Given the description of an element on the screen output the (x, y) to click on. 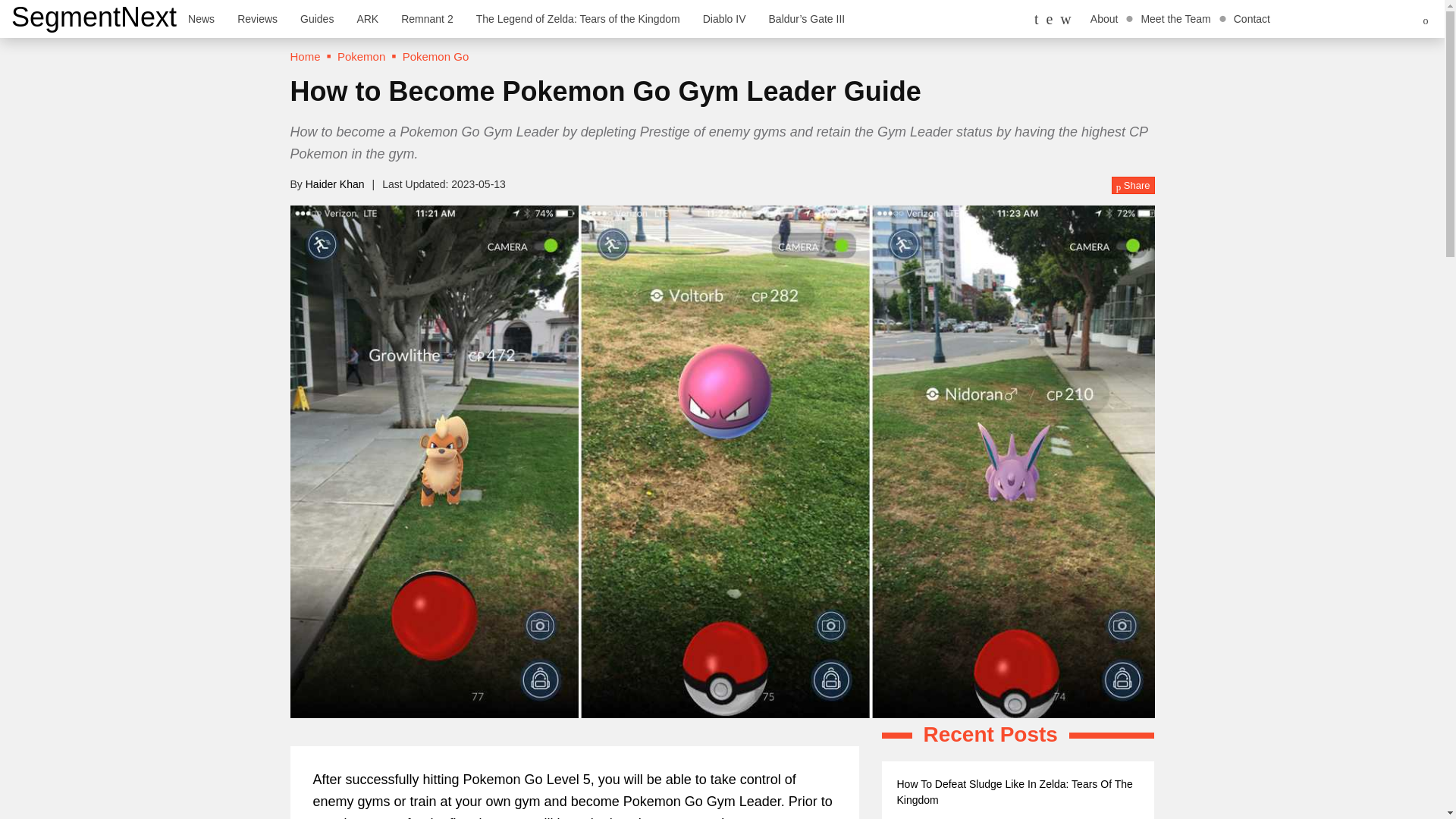
Meet the Team (1175, 18)
Guides (316, 18)
Pokemon Go (435, 56)
The Legend of Zelda: Tears of the Kingdom (577, 18)
Guides (316, 18)
Contact (1252, 18)
Reviews (256, 18)
ARK (367, 18)
ARK (367, 18)
Haider Khan (335, 184)
